Given the description of an element on the screen output the (x, y) to click on. 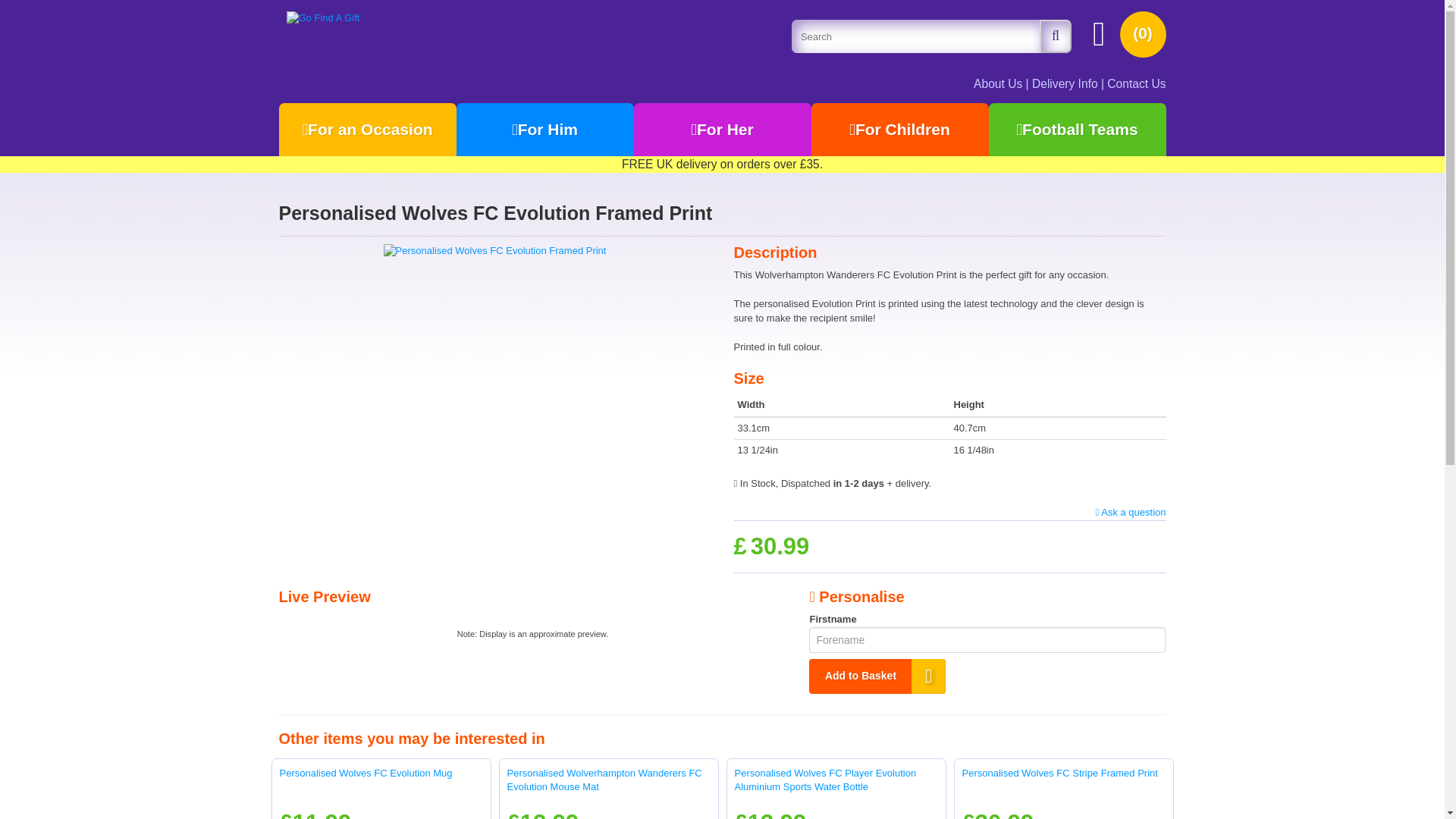
Contact Us (1136, 83)
For Her (721, 129)
For Him (545, 129)
About Us (998, 83)
Delivery Info (1064, 83)
For an Occasion (368, 129)
